Given the description of an element on the screen output the (x, y) to click on. 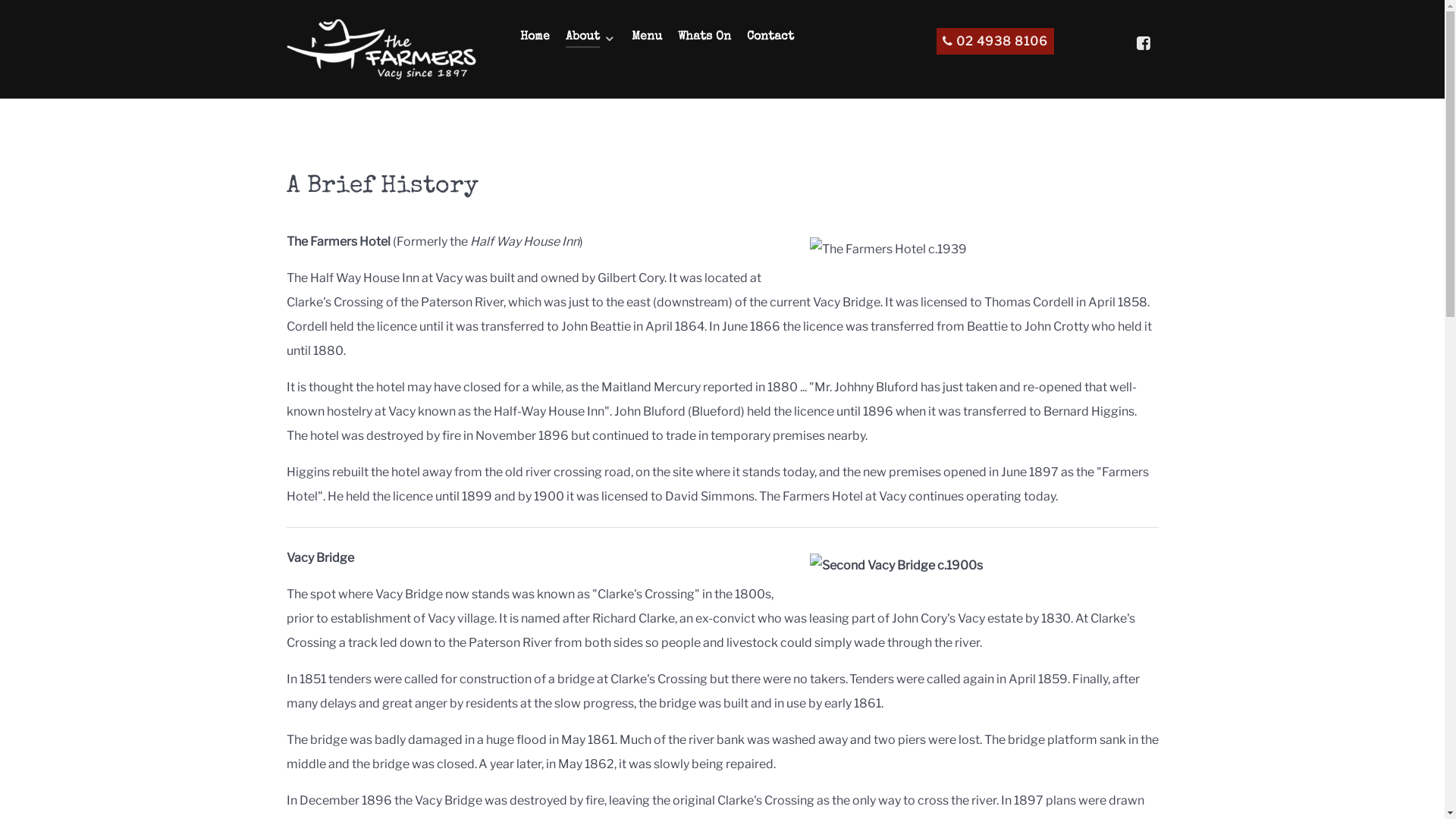
Menu Element type: text (645, 38)
Second Vacy Bridge c.1900s Element type: hover (980, 565)
Home Element type: text (534, 38)
The Farmers Hotel c.1939 Element type: hover (980, 249)
02 4938 8106 Element type: text (995, 41)
Whats On Element type: text (704, 38)
Contact Element type: text (769, 38)
